Given the description of an element on the screen output the (x, y) to click on. 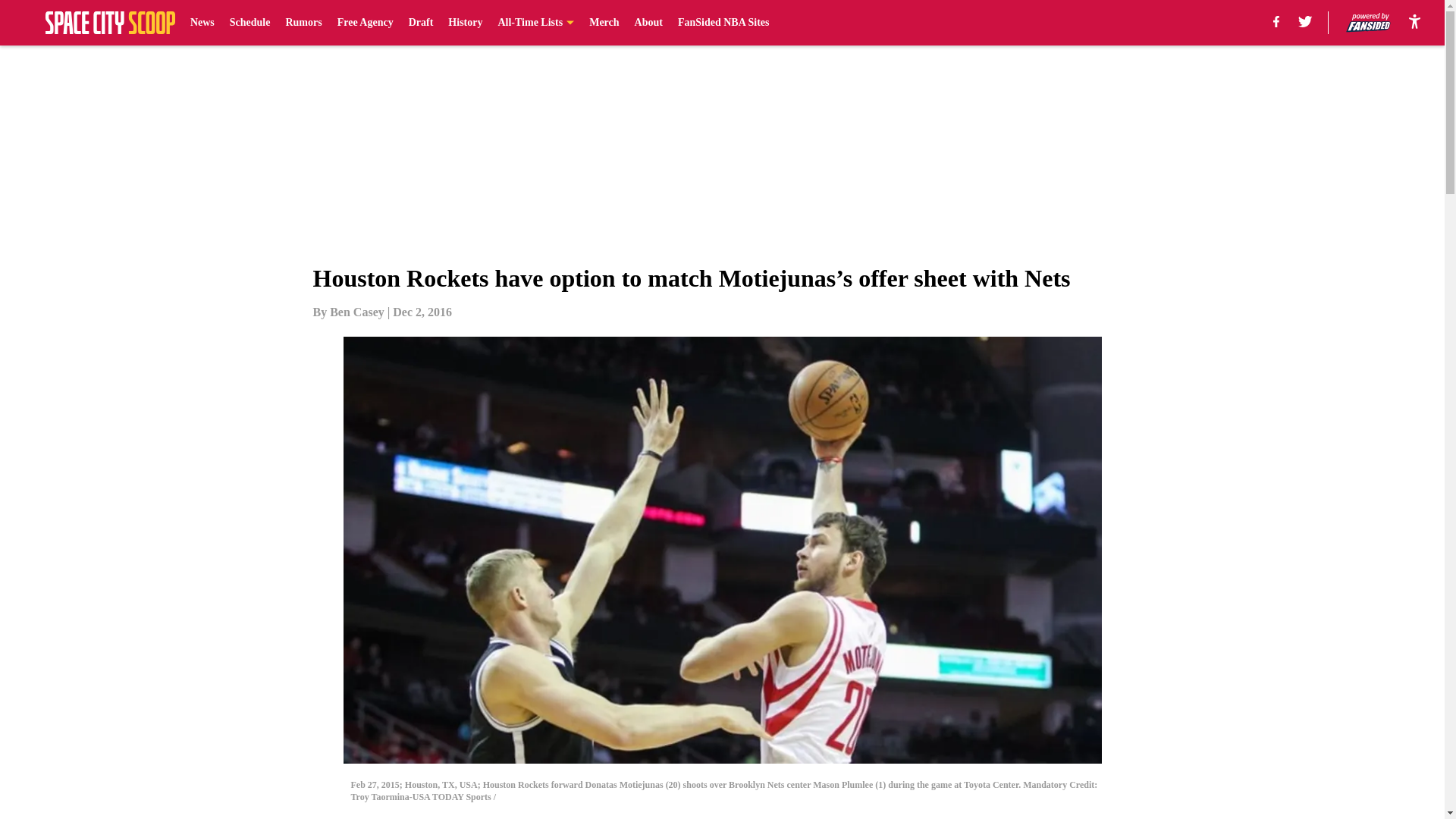
Merch (603, 22)
History (464, 22)
All-Time Lists (535, 22)
News (202, 22)
FanSided NBA Sites (724, 22)
Free Agency (365, 22)
Rumors (303, 22)
Draft (421, 22)
About (648, 22)
Schedule (250, 22)
